Given the description of an element on the screen output the (x, y) to click on. 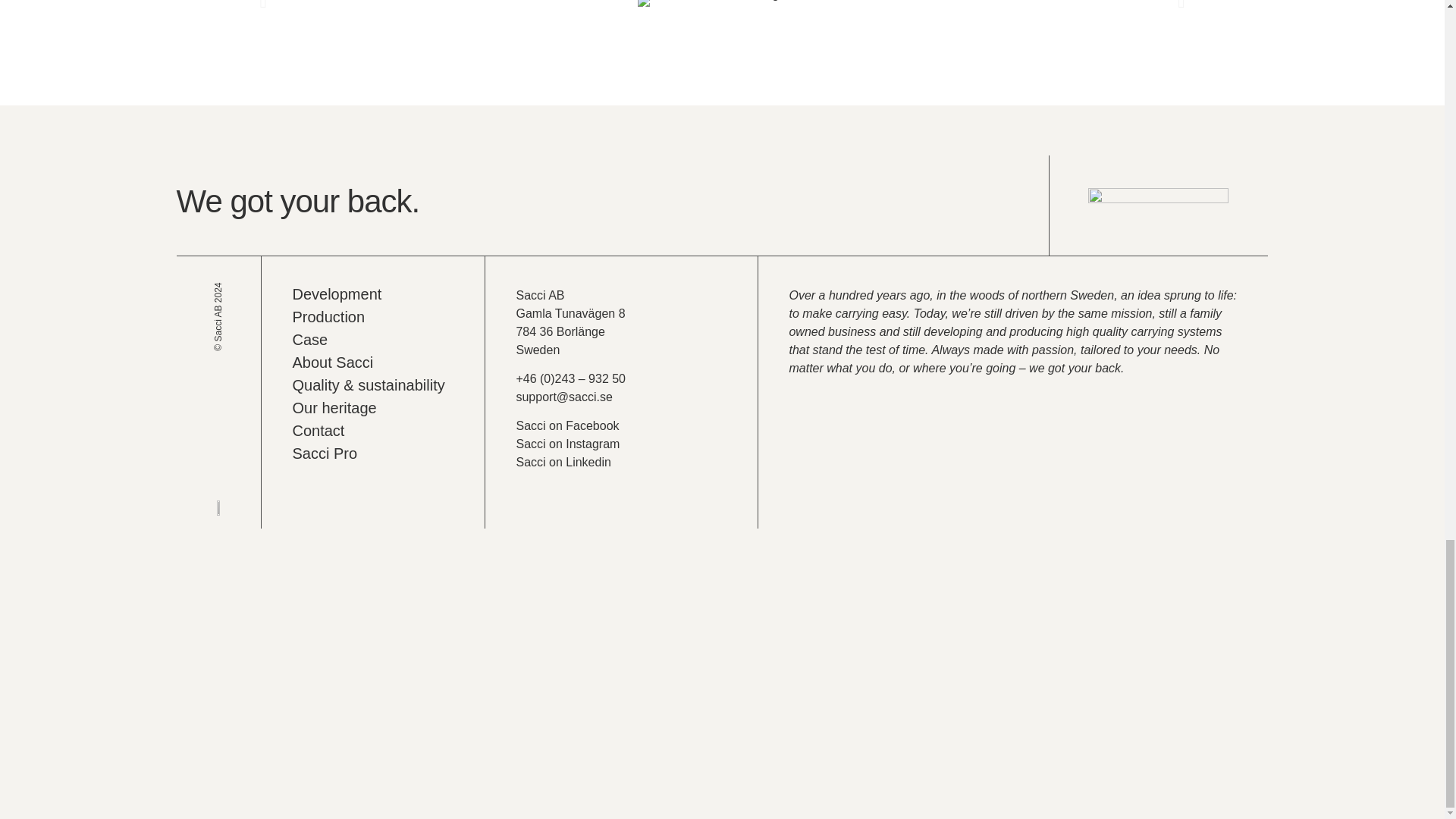
Contact (373, 430)
Production (373, 316)
Sacci on Facebook (566, 425)
Our heritage (373, 407)
Sacci Pro (373, 453)
Development (373, 294)
About Sacci (373, 362)
Case (373, 339)
